Given the description of an element on the screen output the (x, y) to click on. 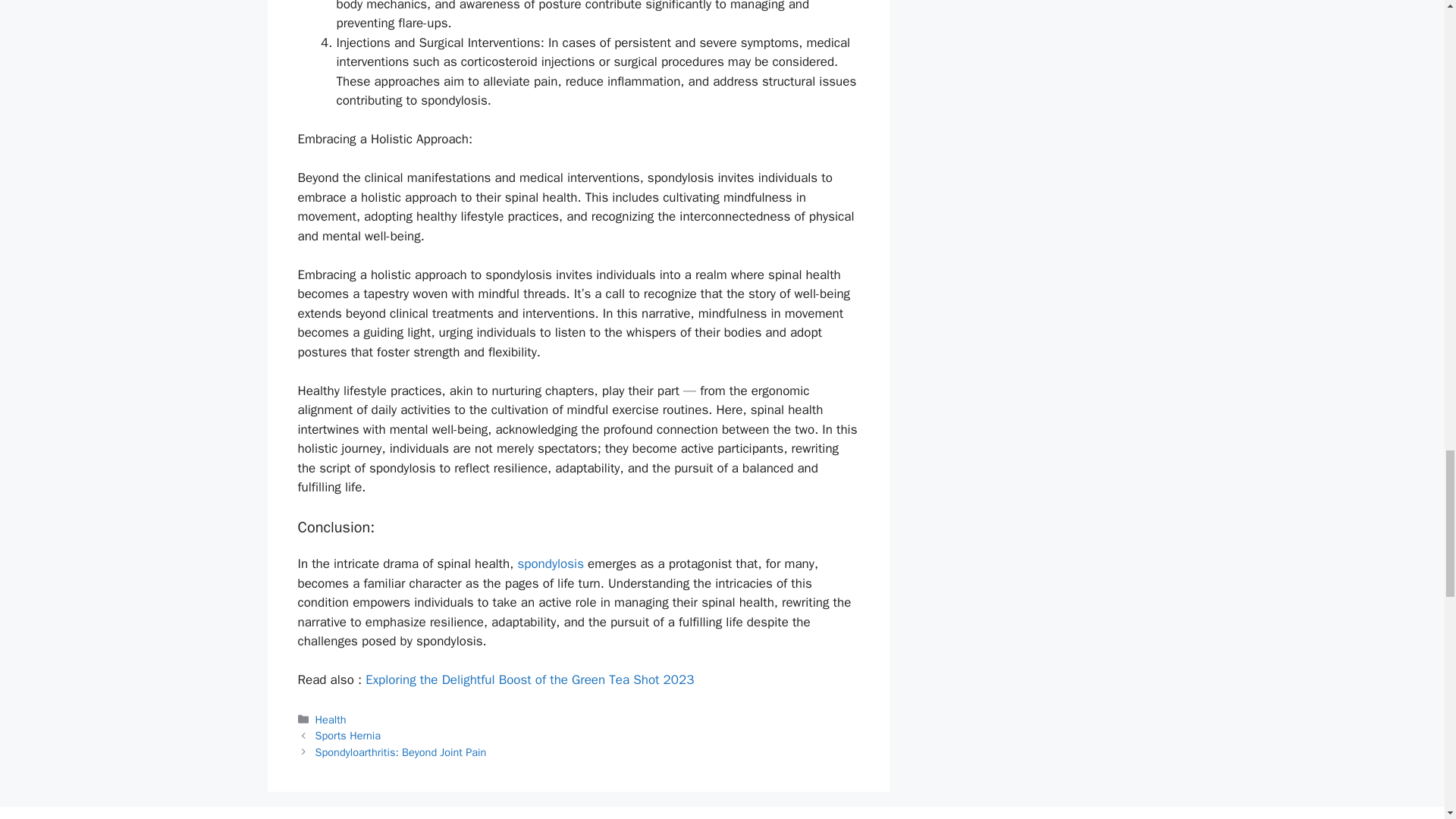
spondylosis (549, 563)
Health (330, 719)
Spondyloarthritis: Beyond Joint Pain (400, 752)
Sports Hernia (347, 735)
Exploring the Delightful Boost of the Green Tea Shot 2023 (529, 679)
